Given the description of an element on the screen output the (x, y) to click on. 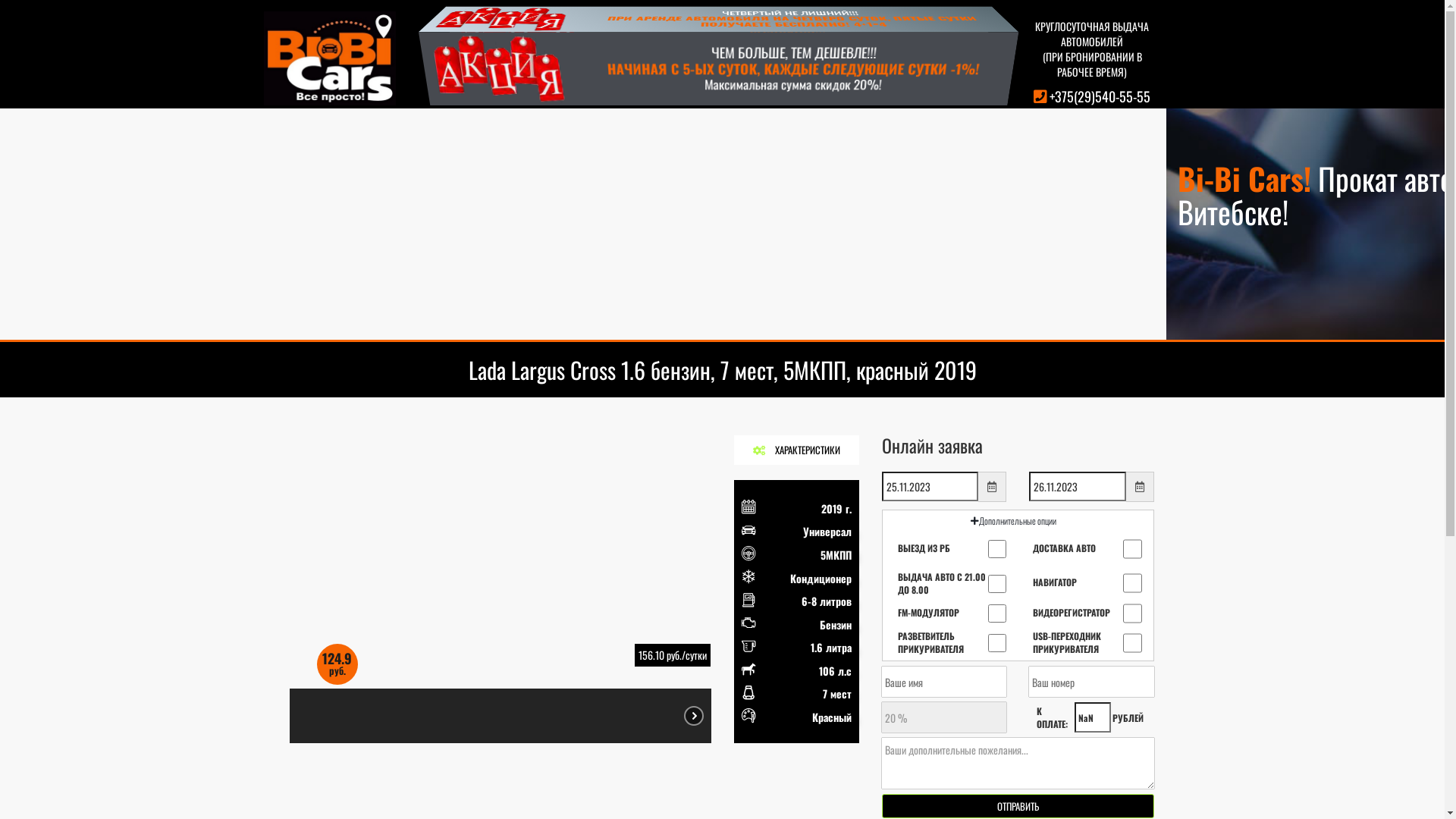
+375(29)540-55-55 Element type: text (1099, 96)
